Given the description of an element on the screen output the (x, y) to click on. 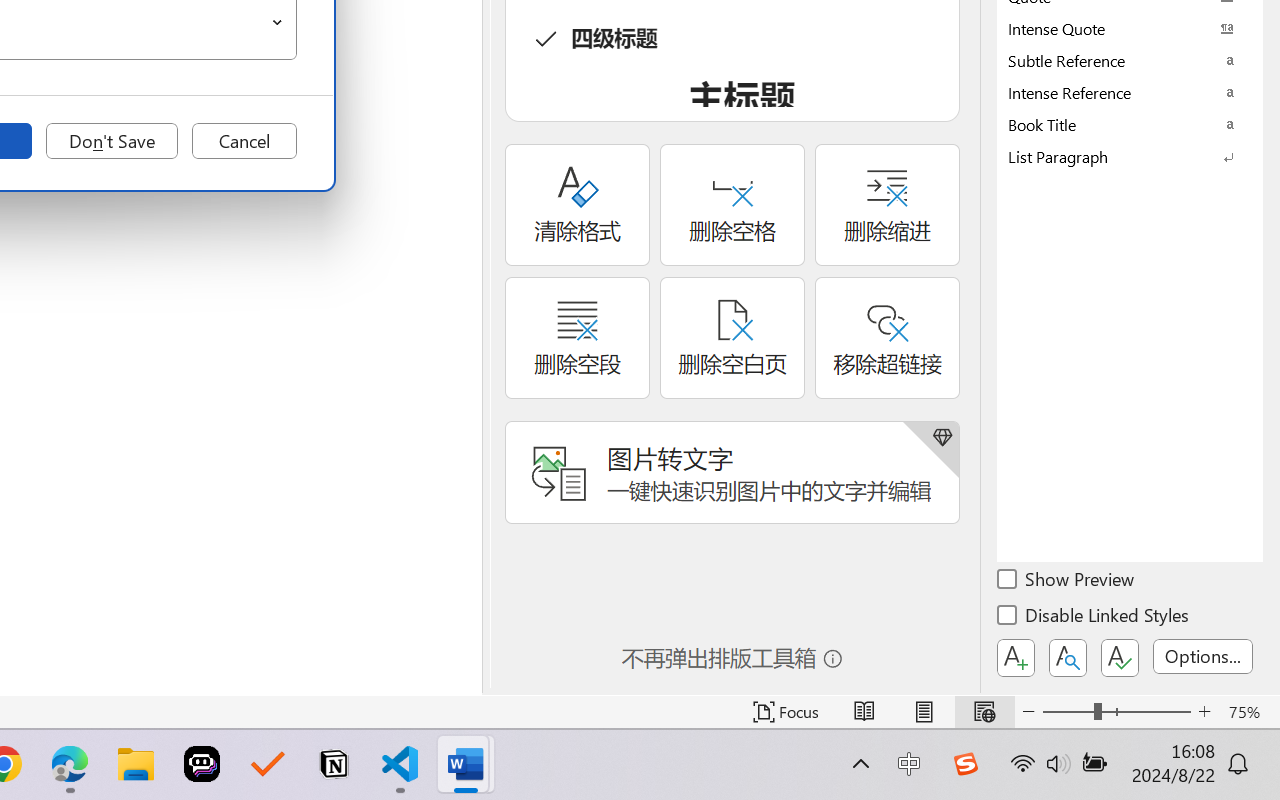
Intense Reference (1130, 92)
Intense Quote (1130, 28)
Zoom (1116, 712)
Notion (333, 764)
Options... (1203, 656)
Poe (201, 764)
Class: NetUIImage (1116, 156)
Don't Save (111, 141)
